Given the description of an element on the screen output the (x, y) to click on. 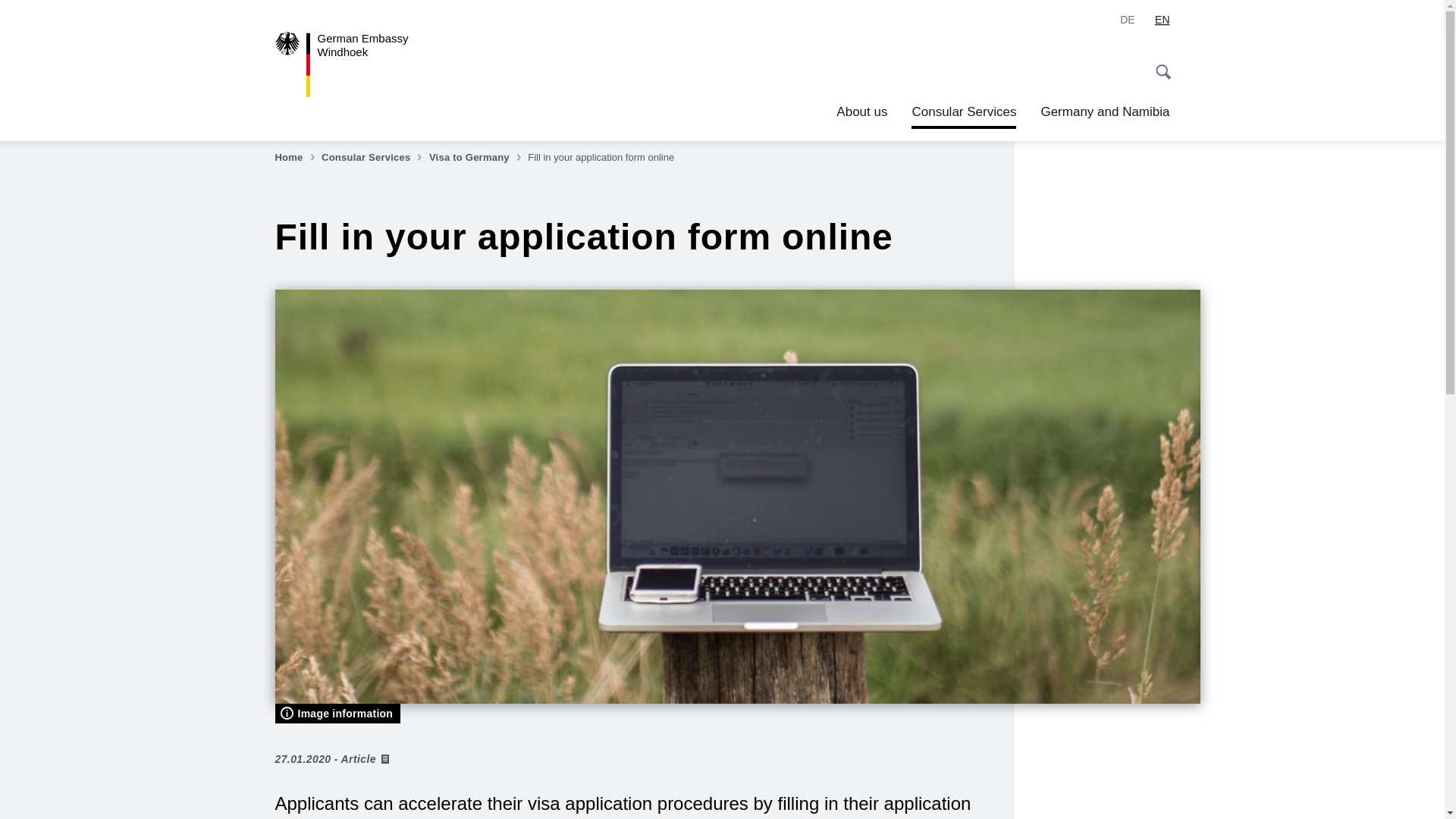
About us (860, 111)
DE (1126, 20)
English (1161, 19)
Visa to Germany (476, 157)
Consular Services (373, 157)
Home (363, 64)
Welcome to the German Embassy in Namibia! (296, 157)
Deutsch (363, 64)
Germany and Namibia (1126, 19)
